Given the description of an element on the screen output the (x, y) to click on. 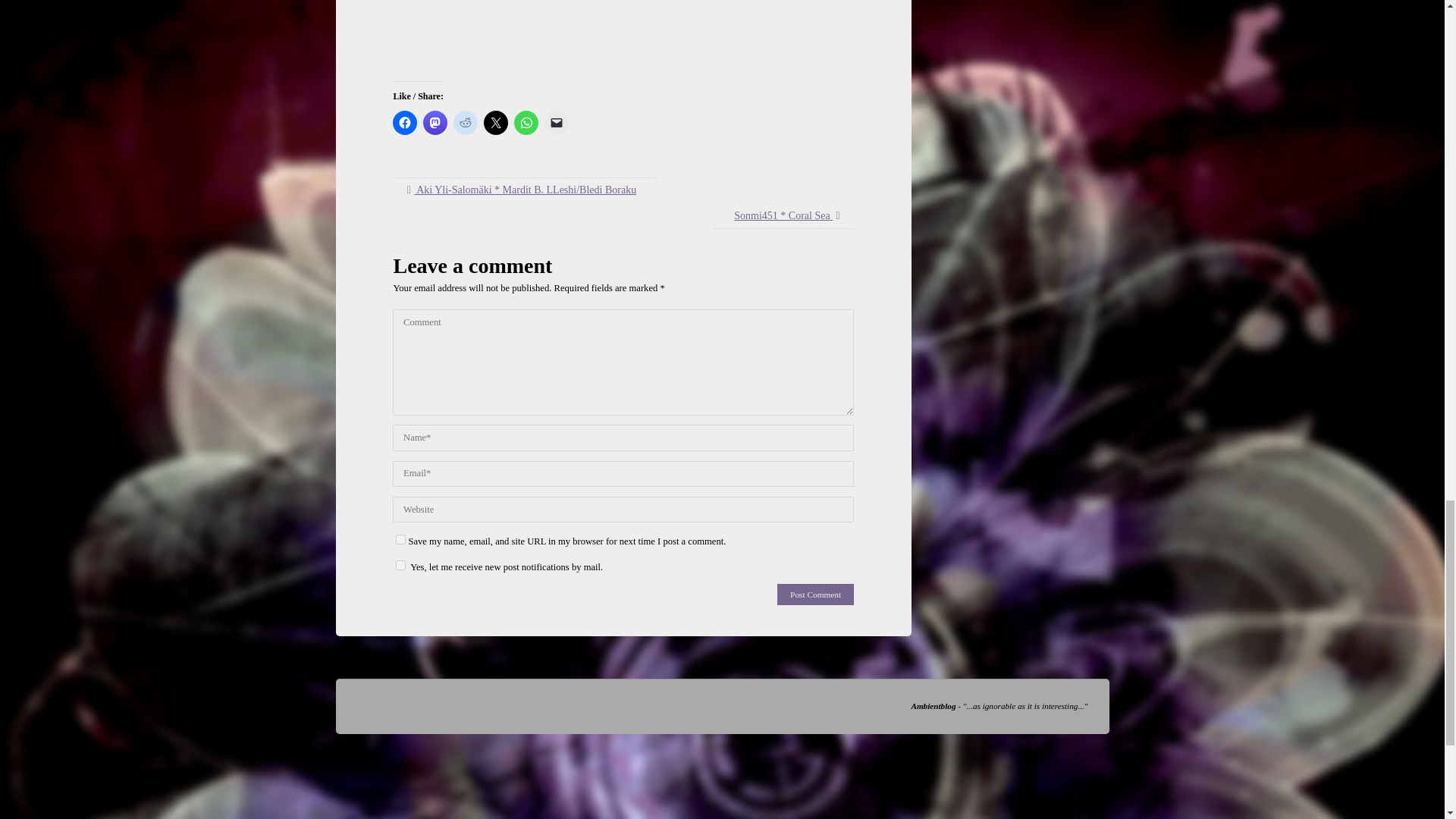
yes (401, 539)
Post Comment (815, 594)
1 (401, 565)
